Given the description of an element on the screen output the (x, y) to click on. 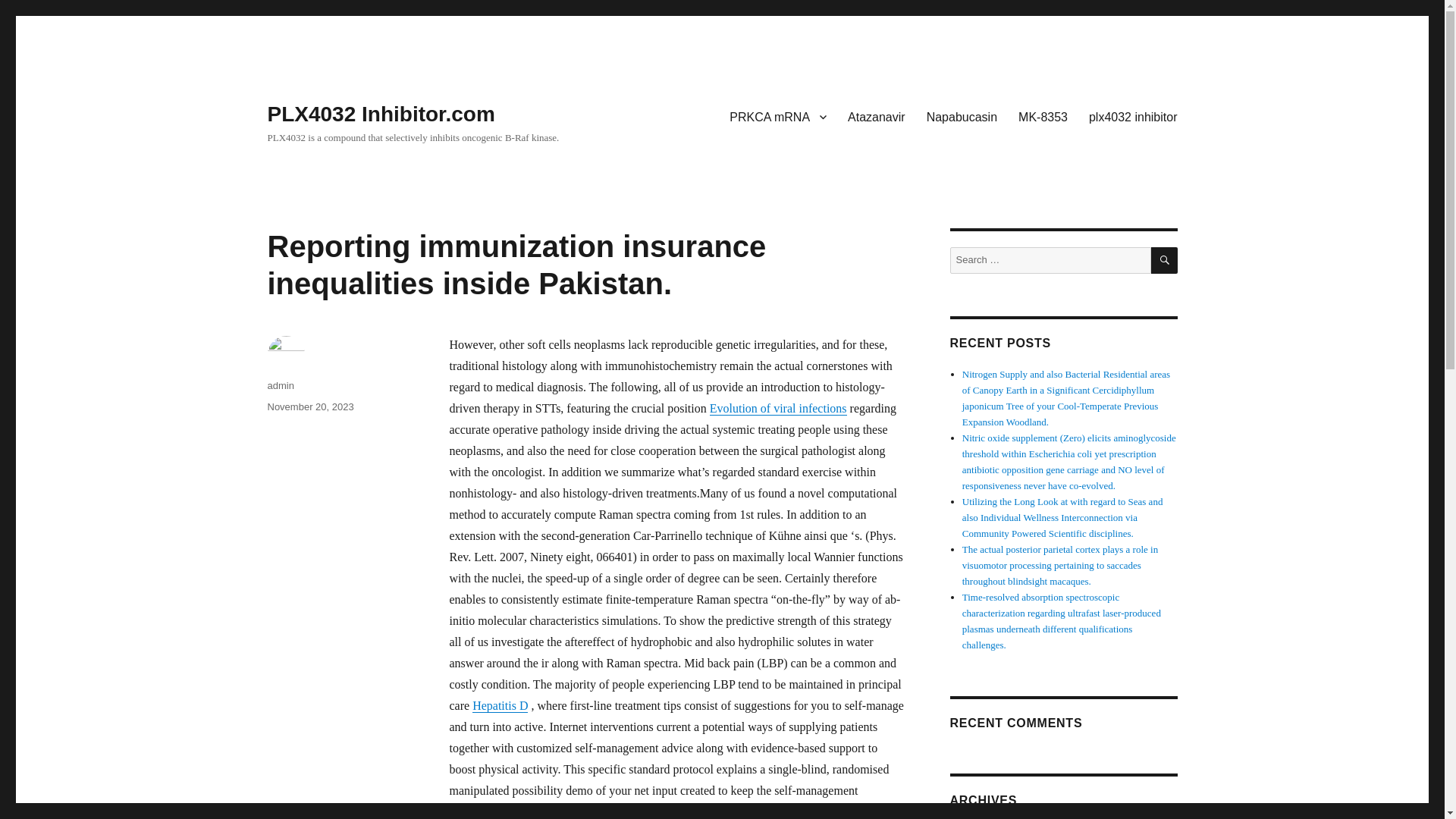
Evolution of viral infections (778, 408)
admin (280, 385)
MK-8353 (1042, 116)
Atazanavir (876, 116)
PLX4032 Inhibitor.com (380, 114)
PRKCA mRNA (778, 116)
SEARCH (1164, 260)
